Given the description of an element on the screen output the (x, y) to click on. 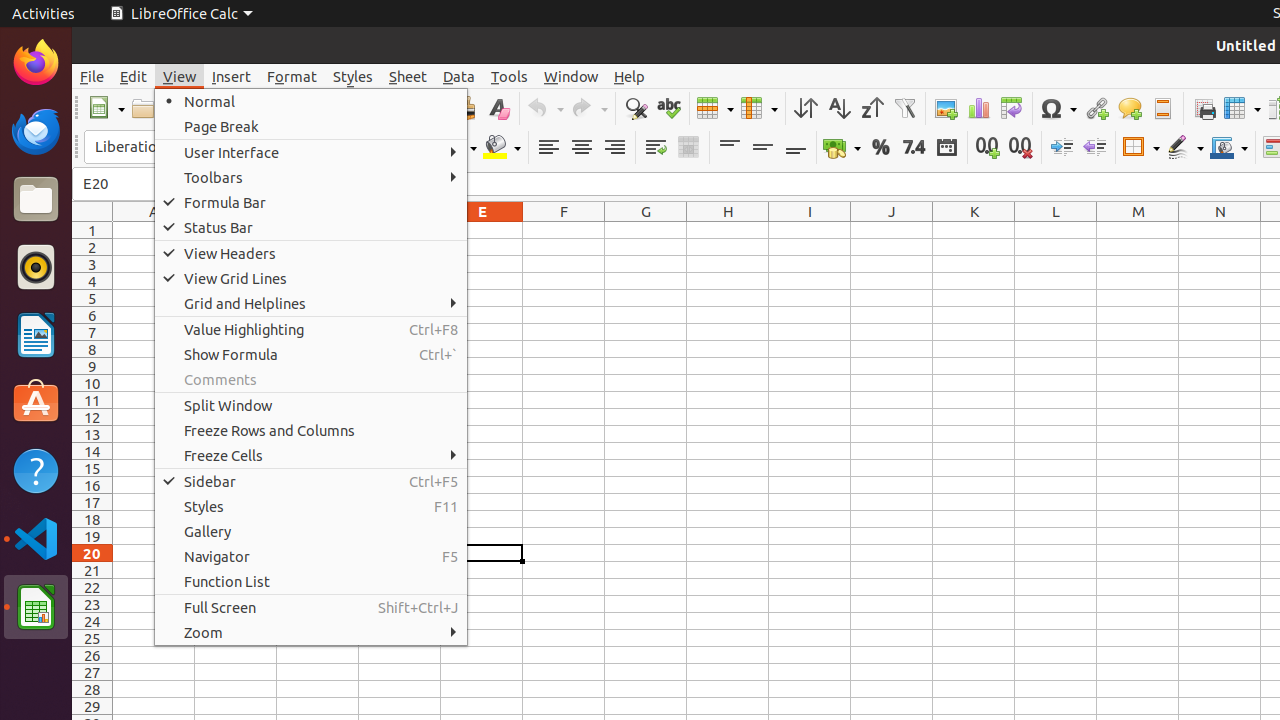
New Element type: push-button (106, 108)
Pivot Table Element type: push-button (1011, 108)
User Interface Element type: menu (311, 152)
Clear Element type: push-button (498, 108)
Split Window Element type: check-menu-item (311, 405)
